Given the description of an element on the screen output the (x, y) to click on. 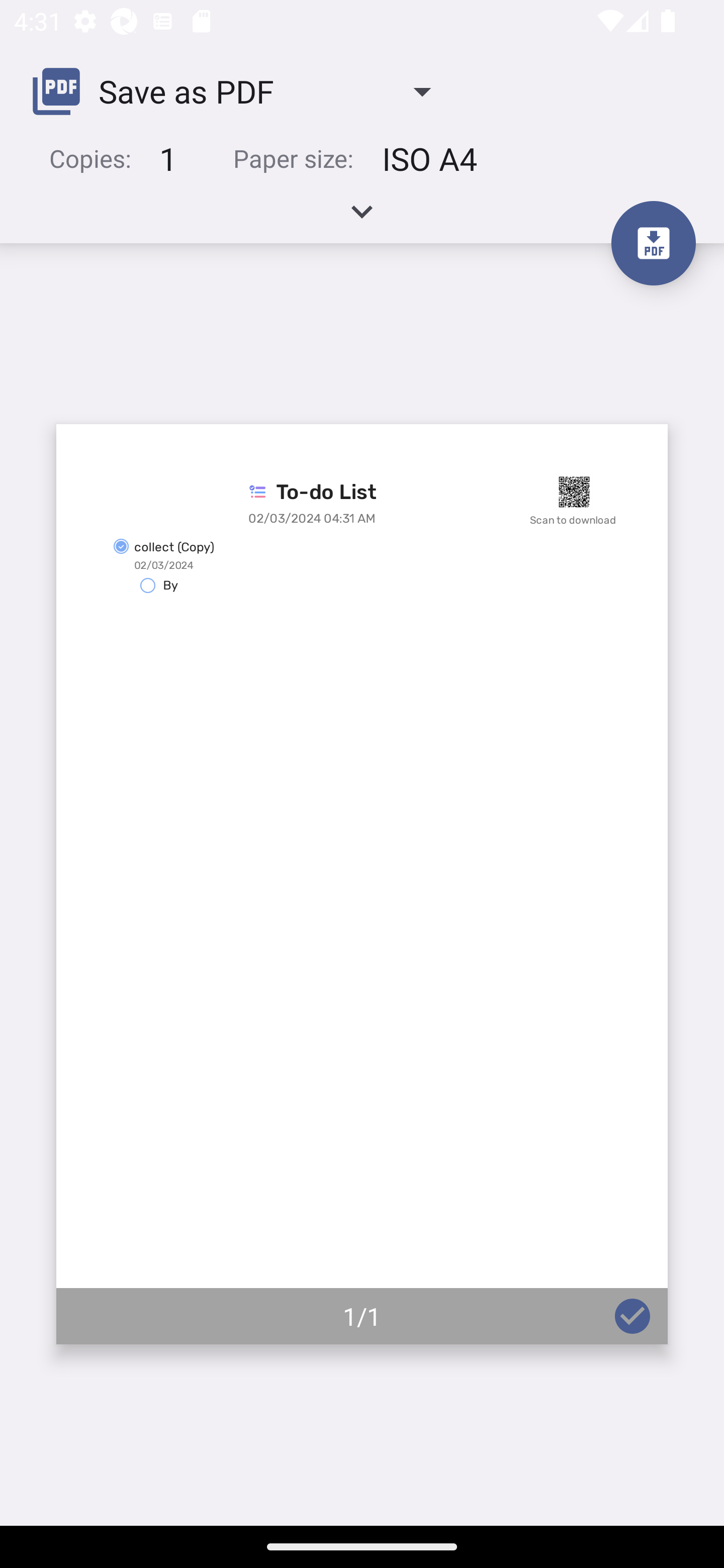
Save as PDF (238, 90)
Expand handle (362, 218)
Save to PDF (653, 242)
Page 1 of 1 1/1 (361, 883)
